Given the description of an element on the screen output the (x, y) to click on. 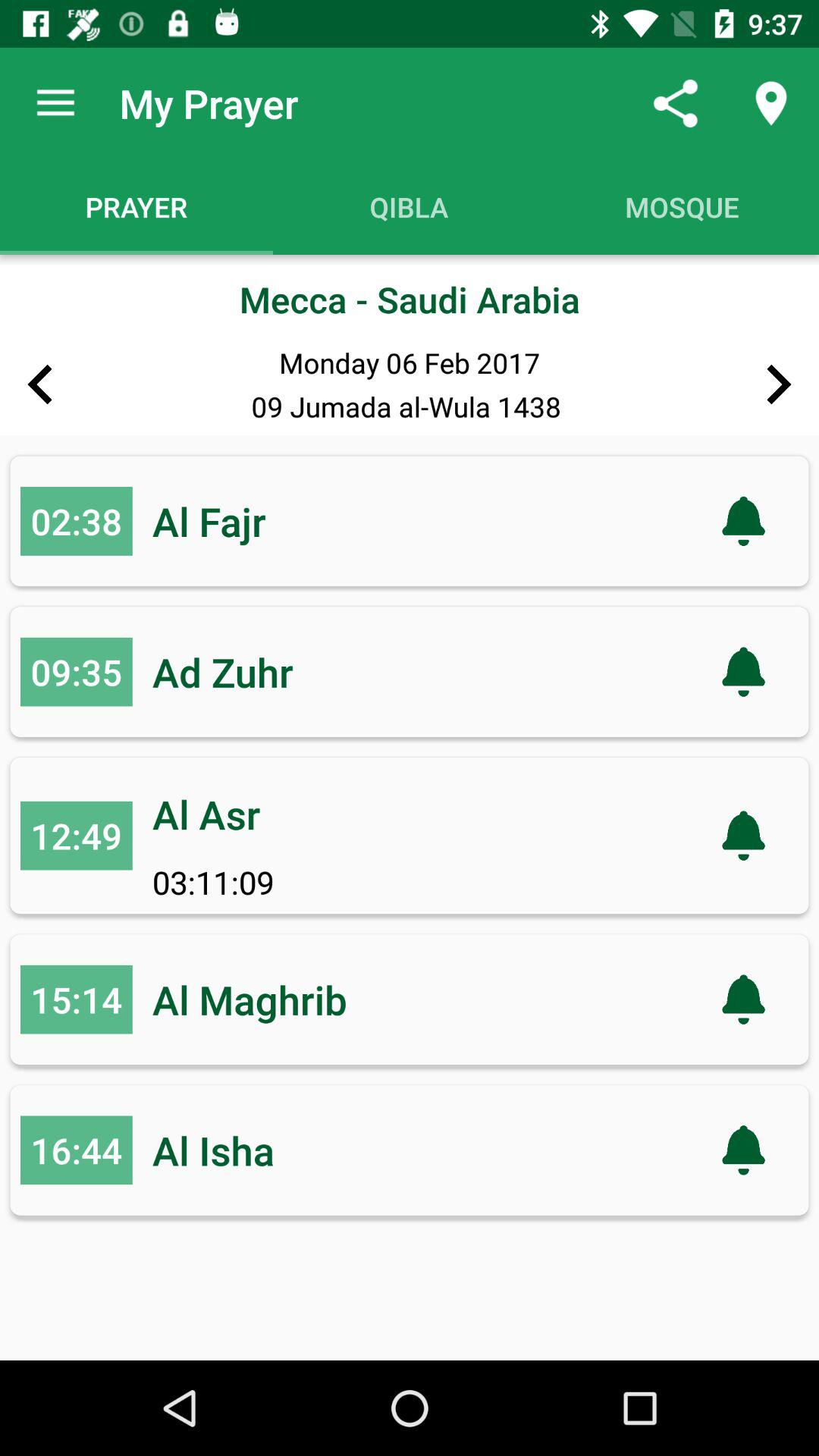
tap 16:44 (76, 1149)
